Given the description of an element on the screen output the (x, y) to click on. 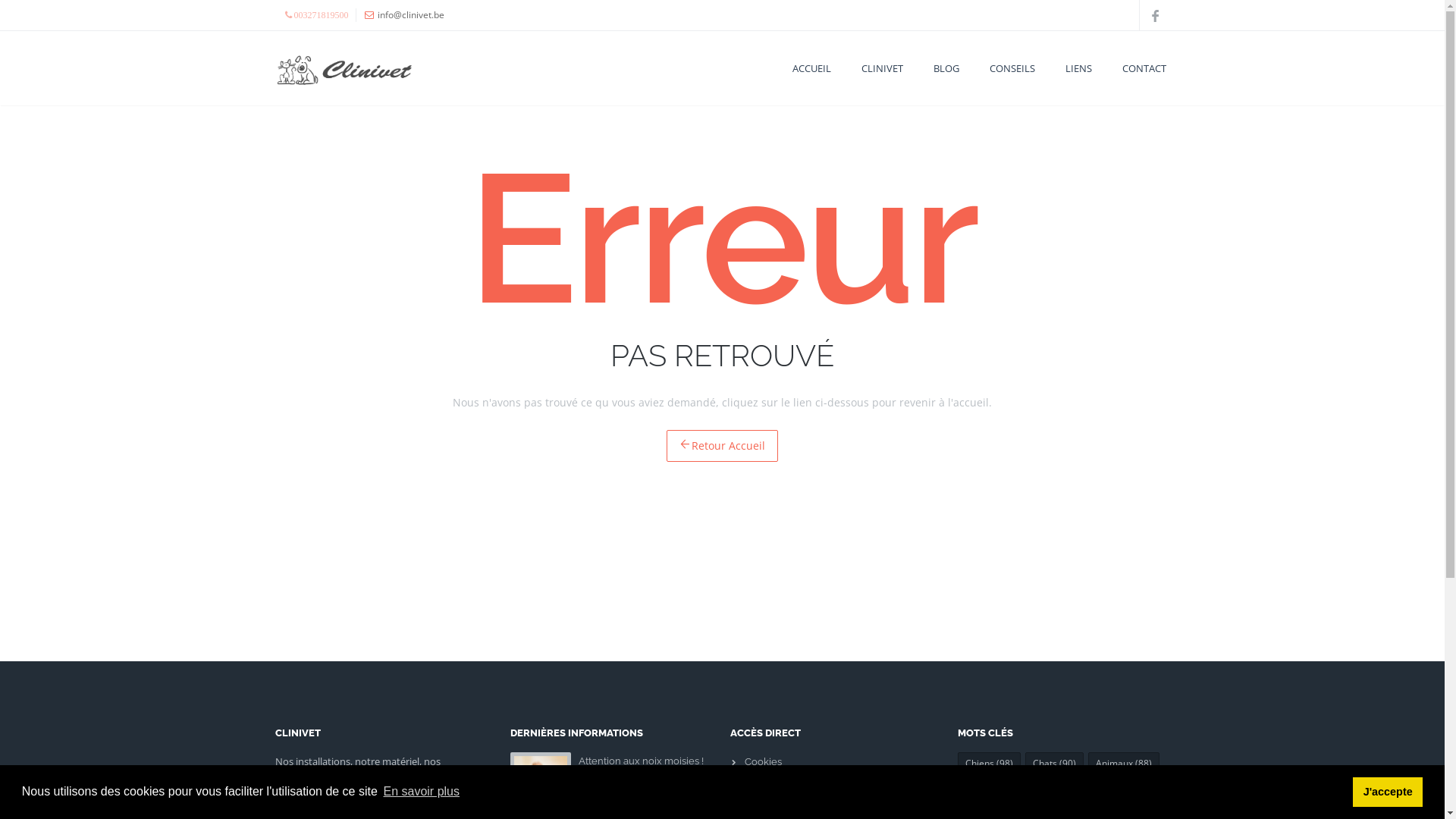
CLINIVET Element type: text (881, 68)
RGPD Element type: text (757, 784)
Chats (90) Element type: text (1054, 762)
Retour Accueil Element type: text (722, 445)
En savoir plus Element type: text (420, 791)
Chiots (32) Element type: text (1078, 788)
LIENS Element type: text (1078, 68)
CONSEILS Element type: text (1011, 68)
Attention aux noix moisies ! Element type: text (639, 760)
Chiens (98) Element type: text (988, 762)
Cookies Element type: text (762, 761)
J'accepte Element type: text (1387, 791)
Contact Element type: text (762, 806)
BLOG Element type: text (946, 68)
003271819500 Element type: text (315, 14)
ACCUEIL Element type: text (811, 68)
Animaux (88) Element type: text (1122, 762)
CONTACT Element type: text (1143, 68)
